Given the description of an element on the screen output the (x, y) to click on. 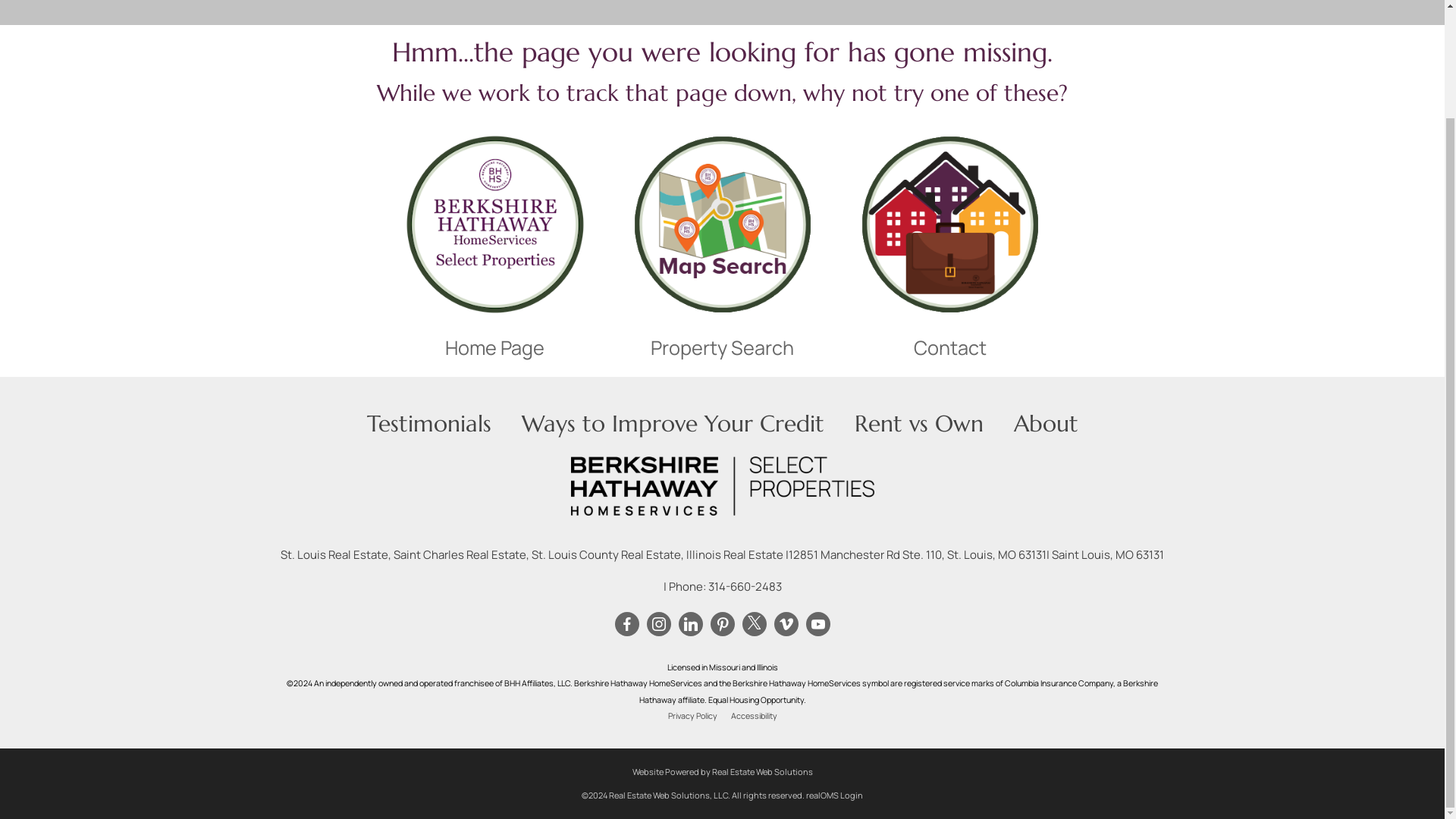
Visit me on Vimeo (785, 623)
Let's connect (950, 224)
Testimonials (429, 423)
Rent vs Own (917, 423)
Visit me on Facebook (626, 623)
Visit me on LinkedIn (690, 623)
Ways to Improve Your Credit (672, 423)
Visit me on YouTube (817, 623)
Let's go home (494, 224)
About (1045, 423)
